Given the description of an element on the screen output the (x, y) to click on. 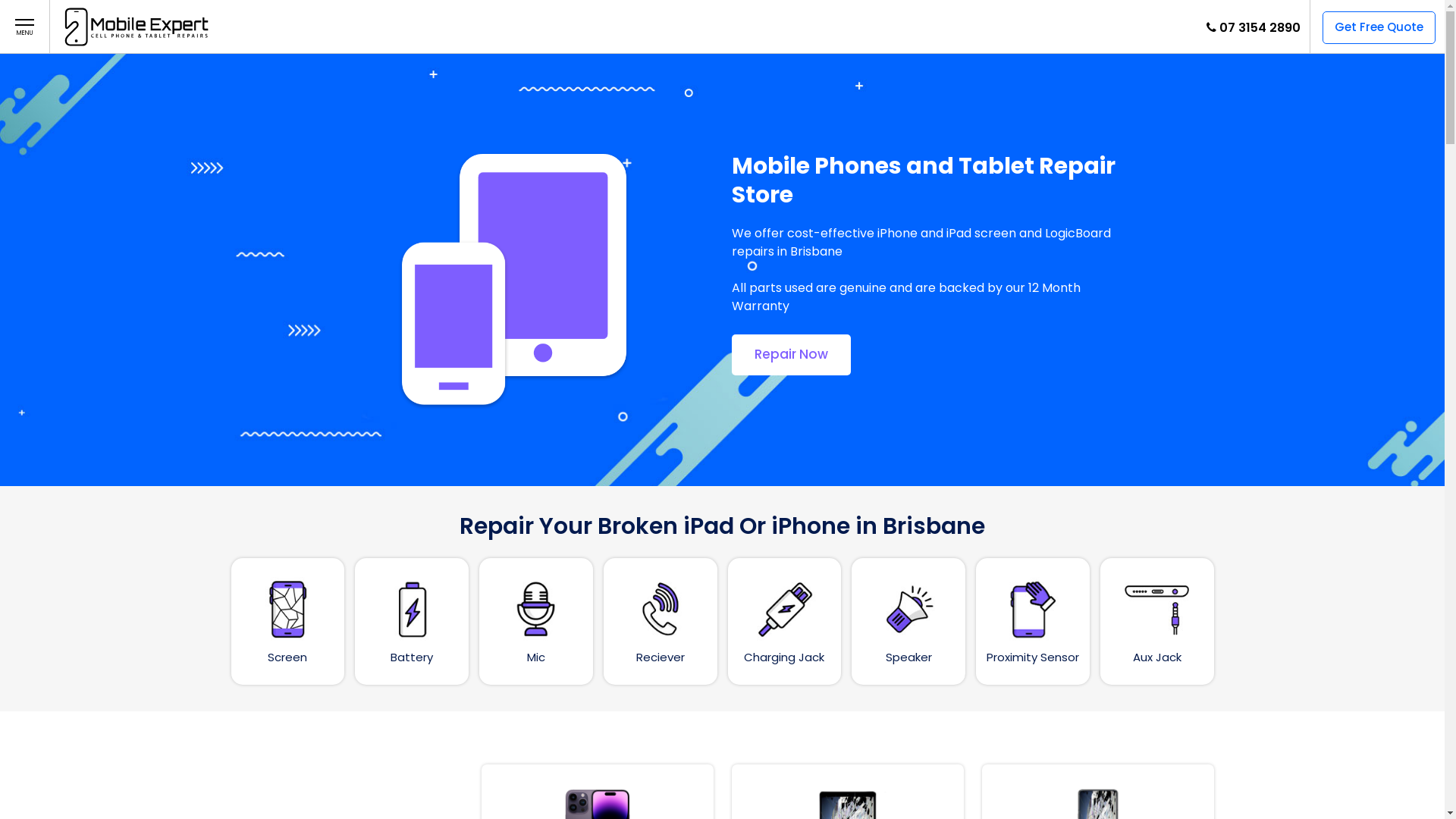
Aux Jack Element type: text (1157, 621)
Reciever Element type: text (660, 621)
Proximity Sensor Element type: text (1032, 621)
SELL Element type: text (432, 25)
STORE Element type: text (525, 25)
Get Free Quote Element type: text (1378, 27)
PRICING Element type: text (578, 25)
Screen Element type: text (287, 621)
07 3154 2890 Element type: text (1259, 27)
MENU Element type: text (24, 27)
HOME Element type: text (390, 25)
REPAIR Element type: text (475, 25)
FAQ Element type: text (626, 25)
Repair Now Element type: text (790, 354)
CONTACT Element type: text (680, 25)
Mic Element type: text (536, 621)
Speaker Element type: text (908, 621)
Battery Element type: text (411, 621)
Charging Jack Element type: text (784, 621)
